Given the description of an element on the screen output the (x, y) to click on. 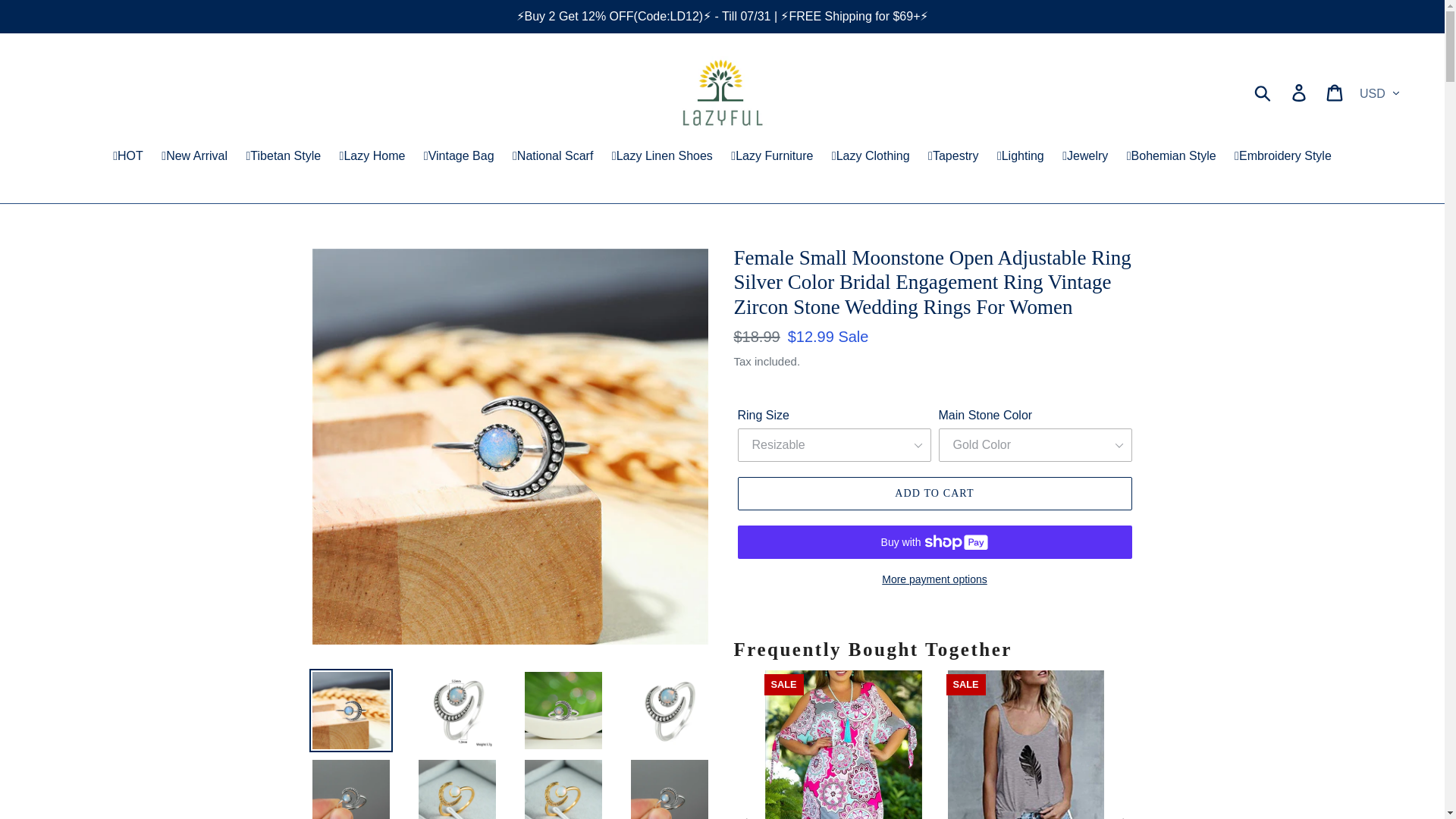
Submit (1263, 91)
Cart (1335, 91)
Log in (1299, 91)
